Given the description of an element on the screen output the (x, y) to click on. 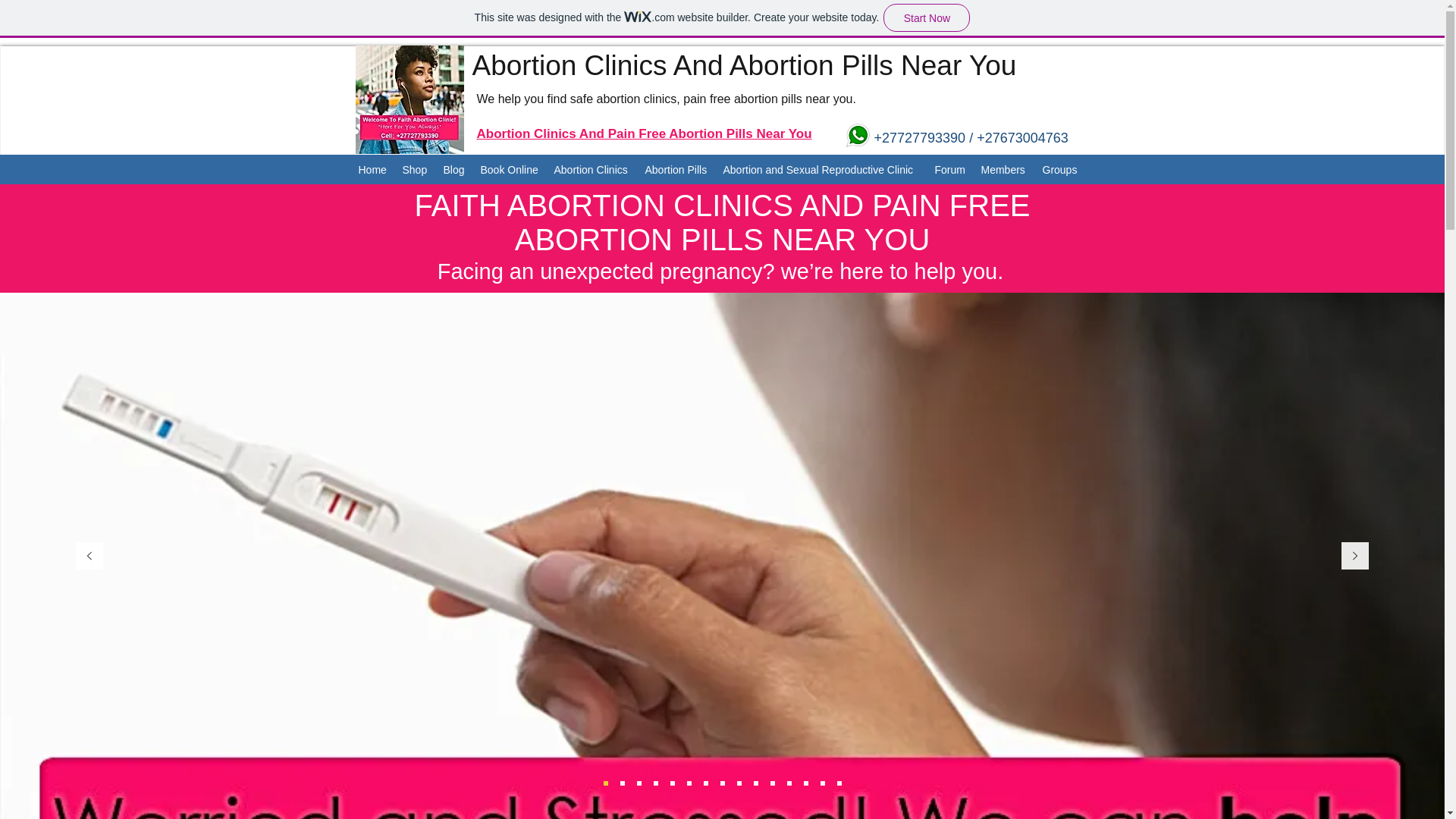
Home (372, 169)
Shop (414, 169)
Abortion Clinics (591, 169)
Blog (453, 169)
Abortion Pills in Johannesburg (857, 135)
Book Online (510, 169)
